Given the description of an element on the screen output the (x, y) to click on. 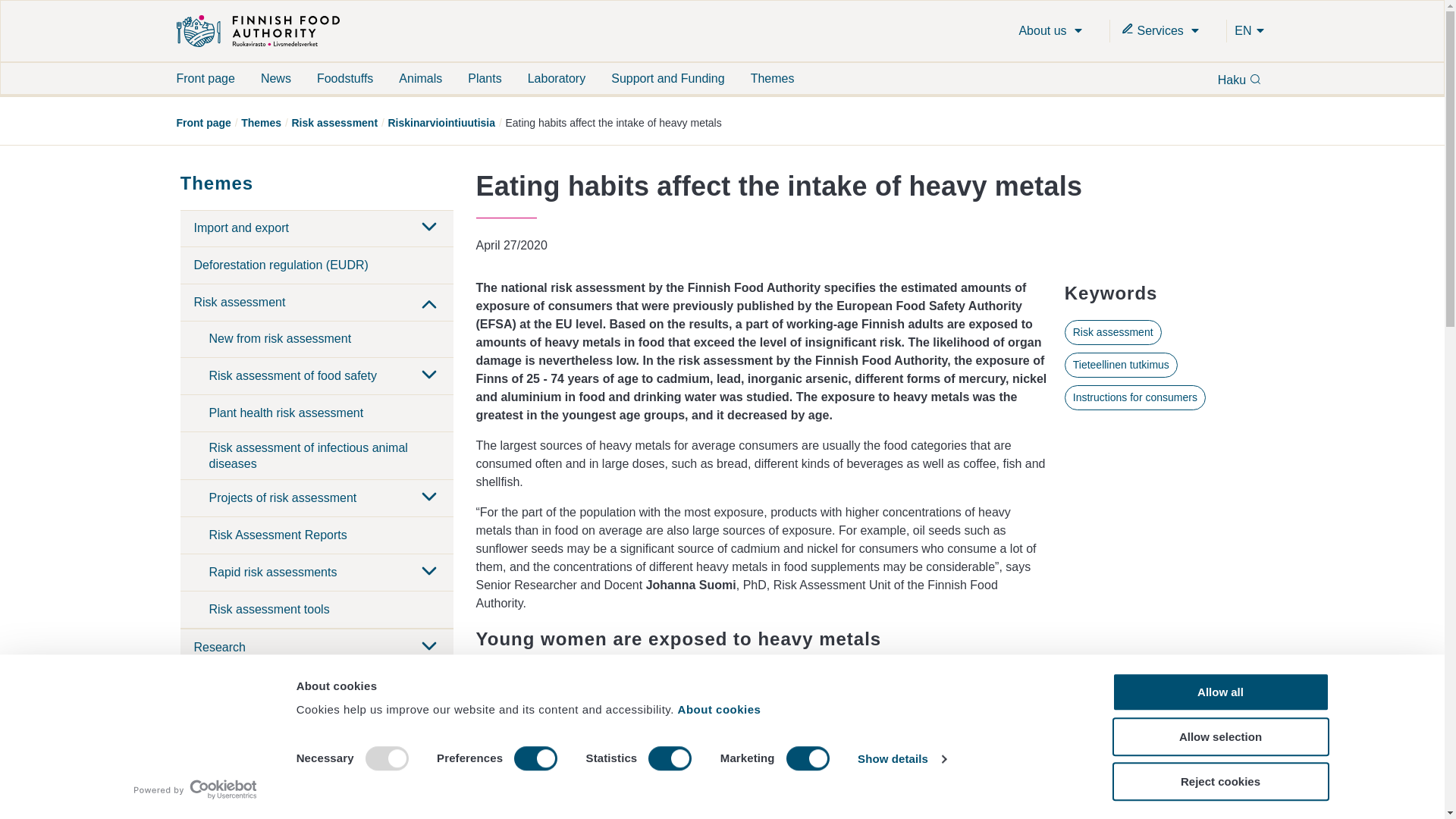
Show details (900, 758)
Reject cookies (1219, 781)
About cookies  (721, 708)
